Given the description of an element on the screen output the (x, y) to click on. 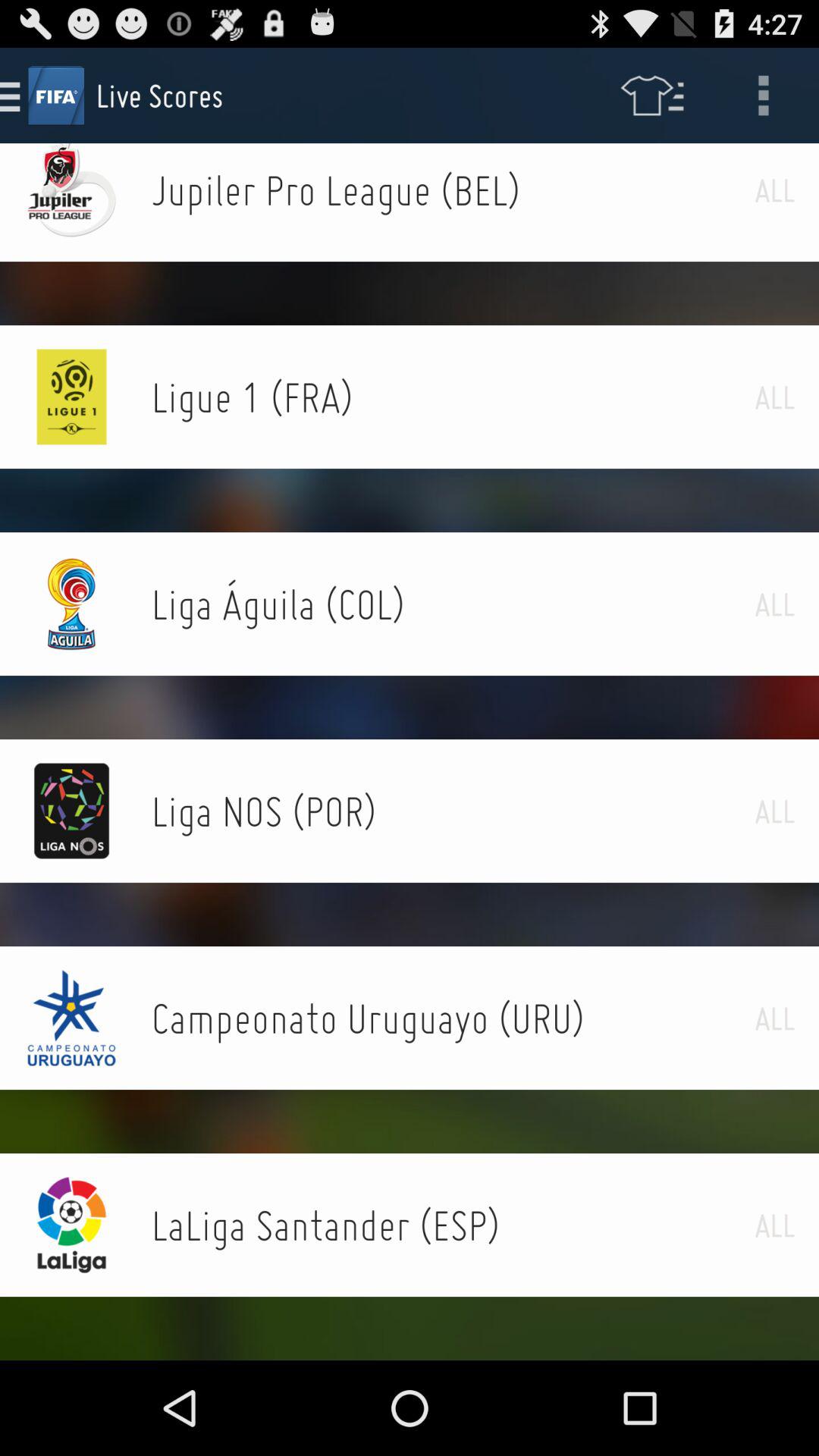
flip to the liga nos (por) (452, 810)
